Given the description of an element on the screen output the (x, y) to click on. 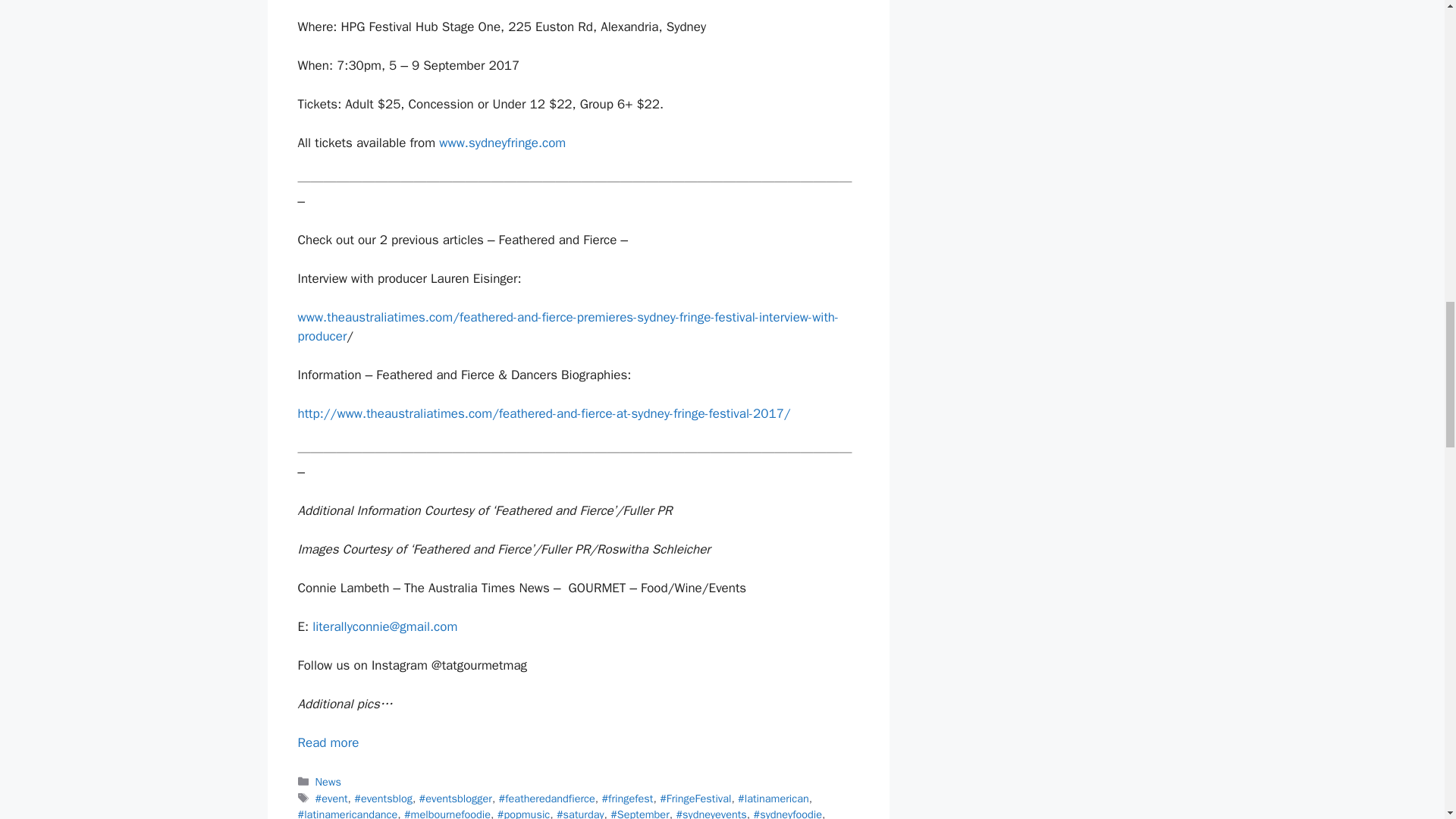
Read more (327, 742)
www.sydneyfringe.com (502, 142)
News (327, 781)
